Given the description of an element on the screen output the (x, y) to click on. 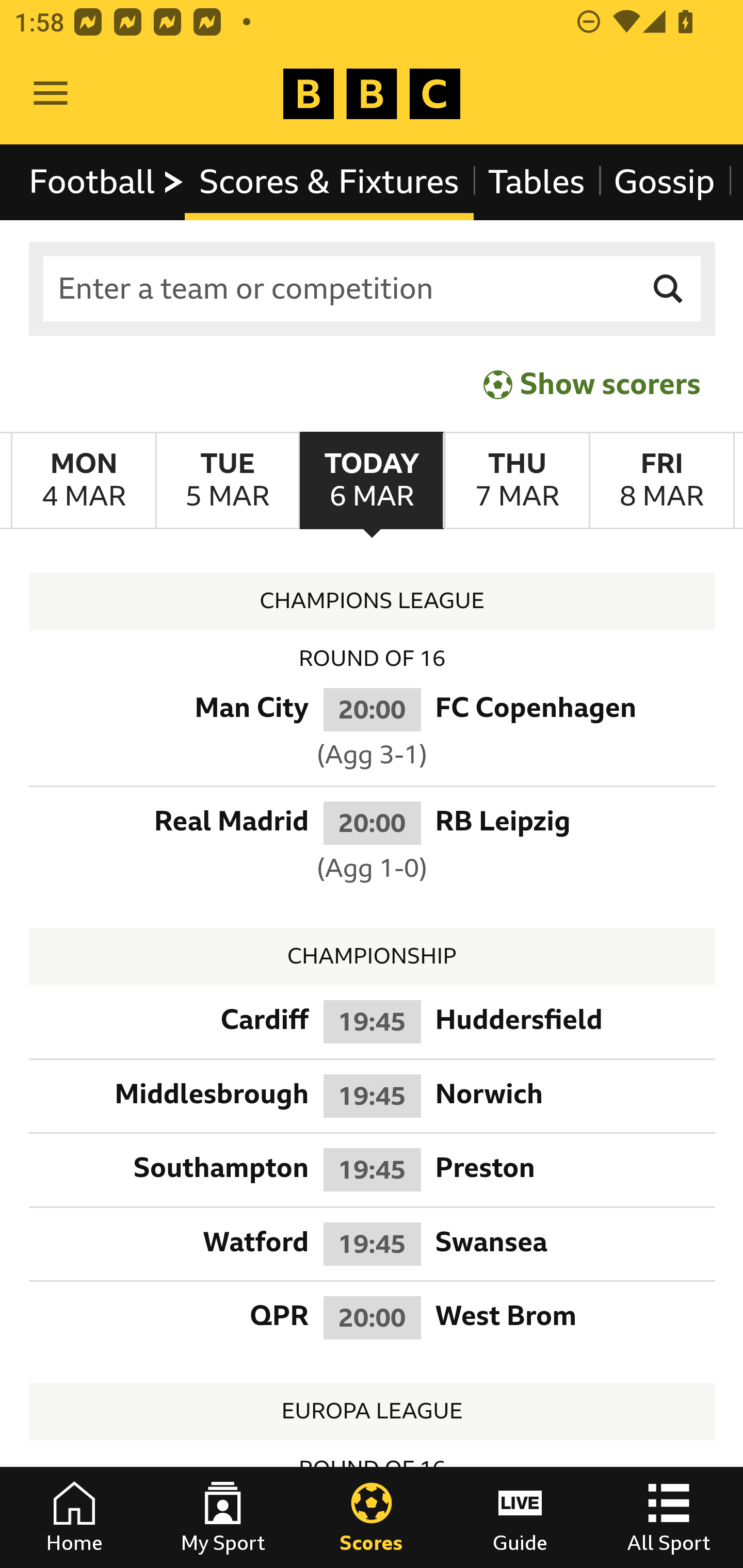
Open Menu (50, 93)
Football  (106, 181)
Scores & Fixtures (329, 181)
Tables (536, 181)
Gossip (664, 181)
Search (669, 289)
Show scorers (591, 383)
MondayMarch 4th Monday March 4th (83, 480)
TuesdayMarch 5th Tuesday March 5th (227, 480)
ThursdayMarch 7th Thursday March 7th (516, 480)
FridayMarch 8th Friday March 8th (661, 480)
Home (74, 1517)
My Sport (222, 1517)
Guide (519, 1517)
All Sport (668, 1517)
